Given the description of an element on the screen output the (x, y) to click on. 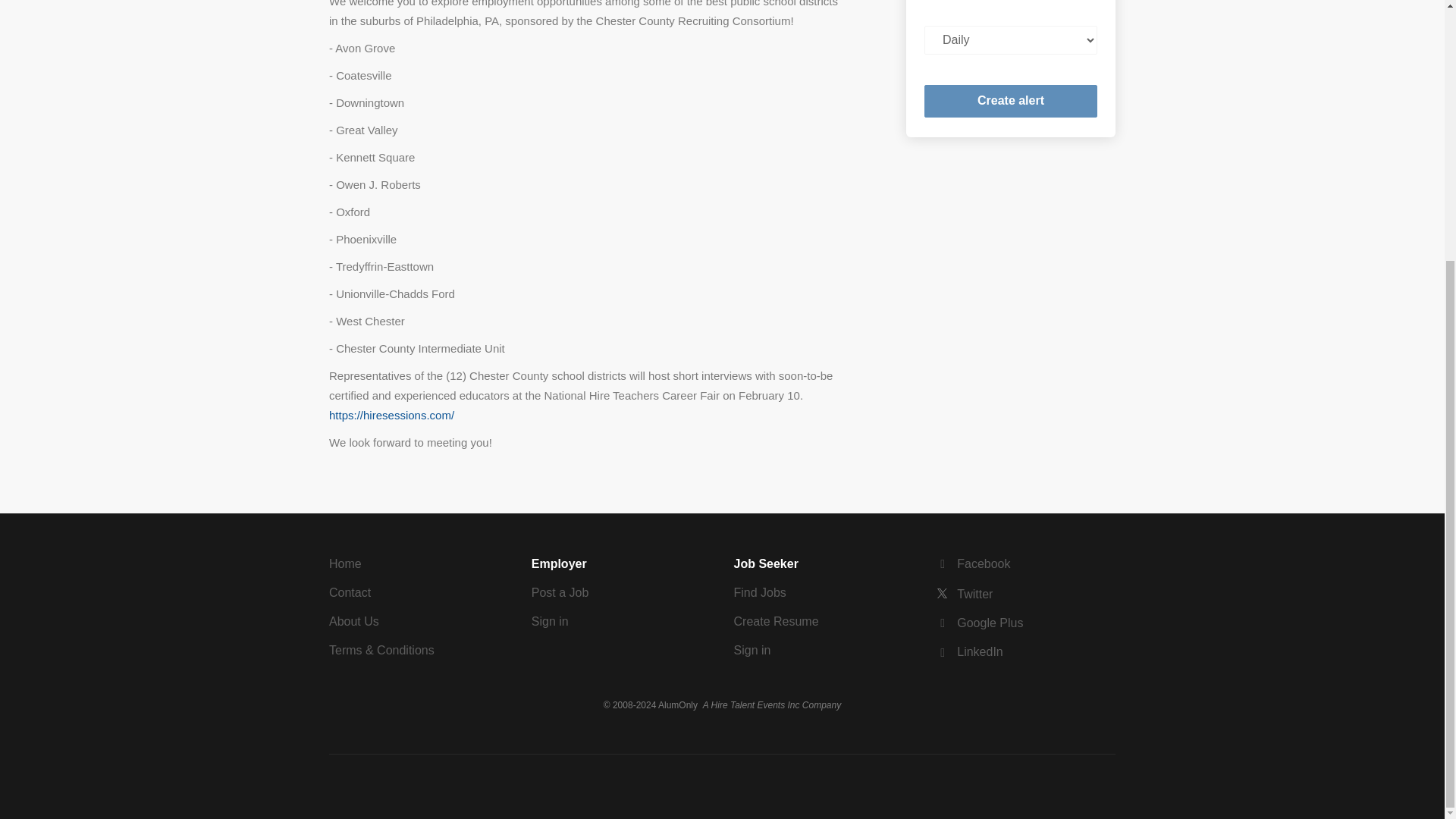
Facebook (973, 563)
Create alert (1010, 101)
Find Jobs (759, 592)
Contact (350, 592)
About Us (353, 621)
Google Plus (979, 622)
Home (345, 563)
Sign in (752, 649)
Create Resume (775, 621)
Create alert (1010, 101)
